Given the description of an element on the screen output the (x, y) to click on. 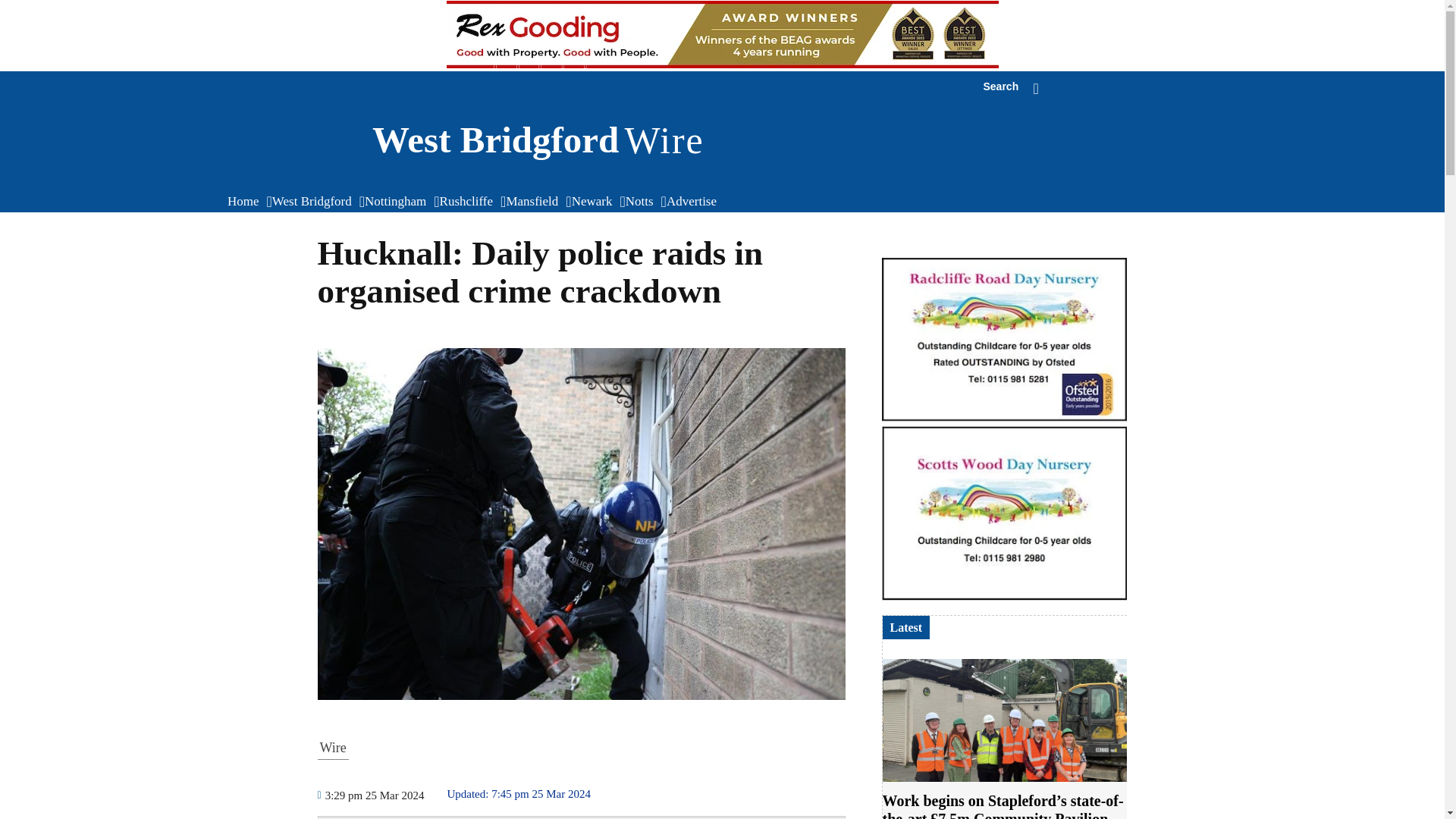
Tiktok (352, 139)
Notts (495, 66)
West Bridgford (643, 201)
Mansfield (315, 201)
Search (535, 201)
Instagram (1017, 88)
Rushcliffe (517, 66)
Linkedin (469, 201)
Home (562, 66)
